Given the description of an element on the screen output the (x, y) to click on. 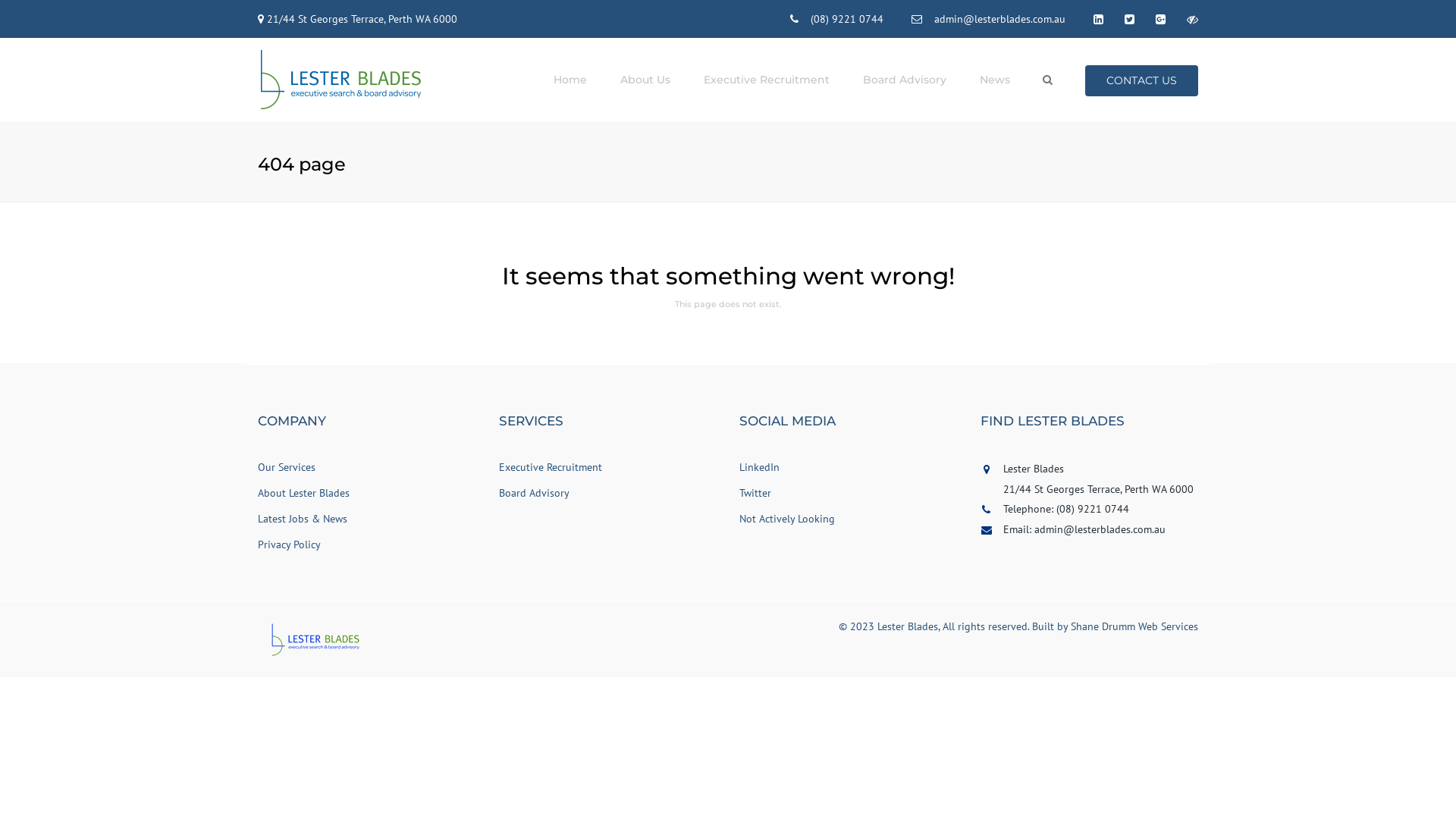
CONTACT US Element type: text (1141, 80)
News Element type: text (994, 79)
Our Services Element type: text (286, 466)
Search Element type: text (1047, 79)
Latest Jobs & News Element type: text (302, 518)
Privacy Policy Element type: text (288, 544)
Executive Recruitment Element type: text (766, 79)
About Lester Blades Element type: text (303, 492)
Shane Drumm Web Services Element type: text (1134, 626)
Board Advisory Element type: text (533, 492)
Executive Recruitment Element type: text (550, 466)
Twitter Element type: text (755, 492)
About Us Element type: text (644, 79)
Not Actively Looking Element type: text (786, 518)
Board Advisory Element type: text (904, 79)
Home Element type: text (570, 79)
LinkedIn Element type: text (759, 466)
